Given the description of an element on the screen output the (x, y) to click on. 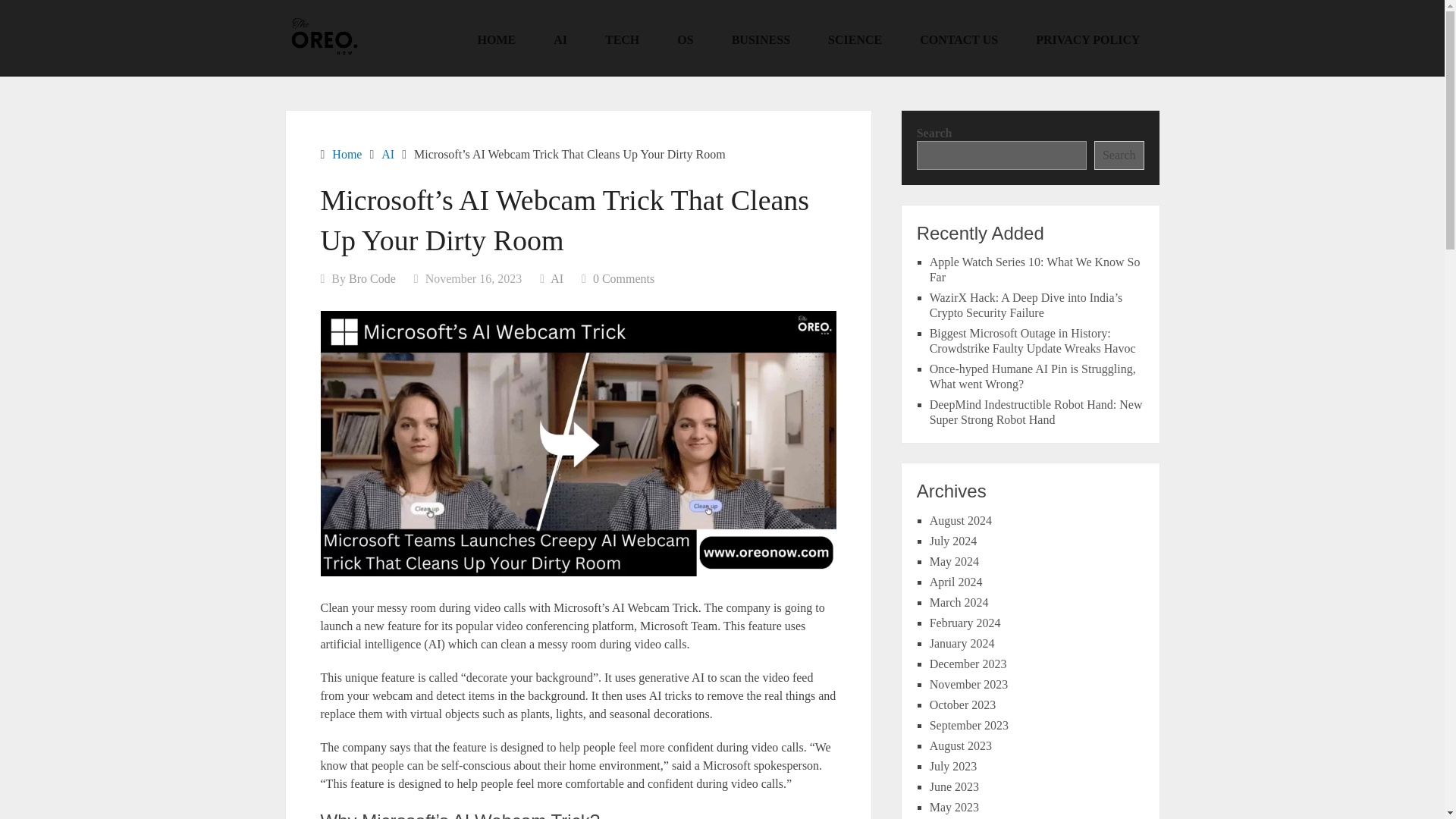
HOME (496, 39)
TECH (622, 39)
January 2024 (962, 643)
CONTACT US (958, 39)
Apple Watch Series 10: What We Know So Far (1035, 269)
February 2024 (965, 622)
AI (387, 154)
OS (684, 39)
March 2024 (959, 602)
Once-hyped Humane AI Pin is Struggling, What went Wrong? (1032, 376)
